Given the description of an element on the screen output the (x, y) to click on. 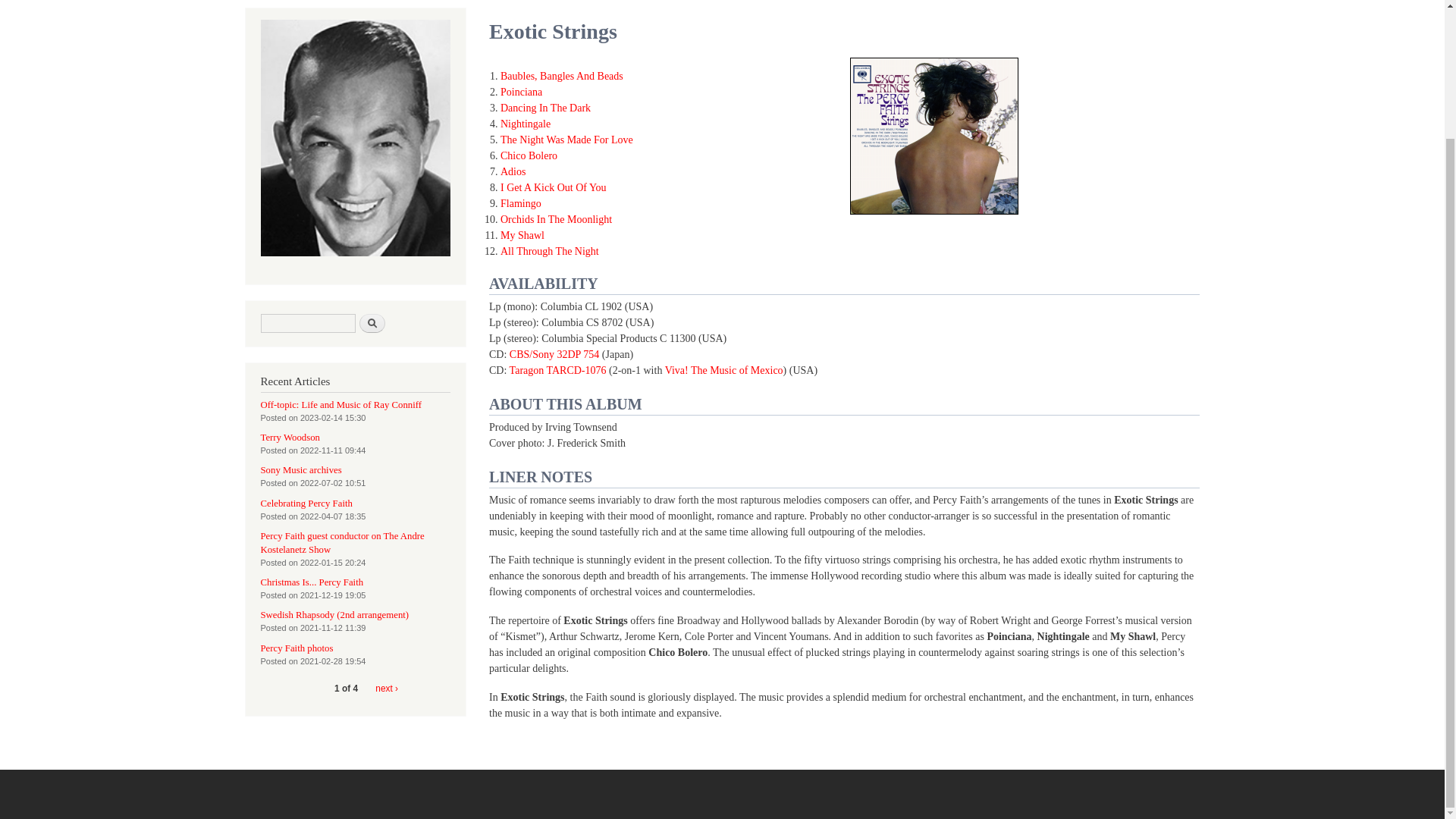
Sony Music archives (301, 470)
I Get A Kick Out Of You (553, 187)
All Through The Night (549, 251)
The Night Was Made For Love (566, 139)
Celebrating Percy Faith (306, 502)
Search (372, 322)
Terry Woodson (290, 437)
Baubles, Bangles And Beads (561, 75)
Dancing In The Dark (545, 107)
Off-topic: Life and Music of Ray Conniff (341, 404)
